Given the description of an element on the screen output the (x, y) to click on. 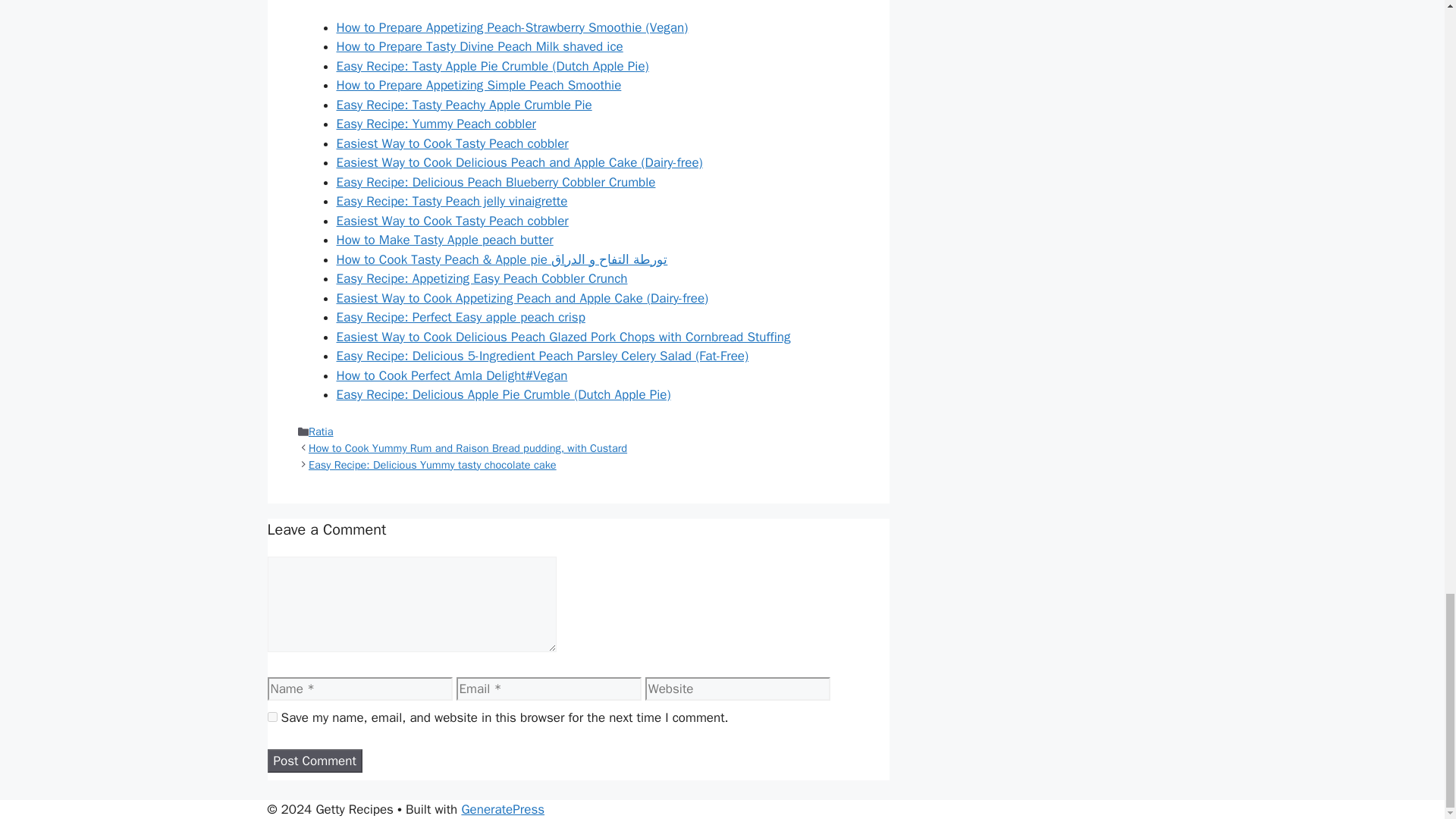
Easy Recipe: Delicious Yummy tasty chocolate cake (432, 464)
Easiest Way to Cook Tasty Peach cobbler (452, 143)
yes (271, 716)
How to Cook Yummy Rum and Raison Bread pudding, with Custard (467, 448)
Easiest Way to Cook Tasty Peach cobbler (452, 220)
Ratia (320, 431)
Easy Recipe: Appetizing Easy Peach Cobbler Crunch (481, 278)
Post Comment (313, 761)
How to Prepare Appetizing Simple Peach Smoothie (478, 84)
Easy Recipe: Delicious Peach Blueberry Cobbler Crumble (496, 182)
Easy Recipe: Tasty Peachy Apple Crumble Pie (464, 105)
Post Comment (313, 761)
Easy Recipe: Perfect Easy apple peach crisp (460, 317)
Easy Recipe: Tasty Peach jelly vinaigrette (451, 201)
